Given the description of an element on the screen output the (x, y) to click on. 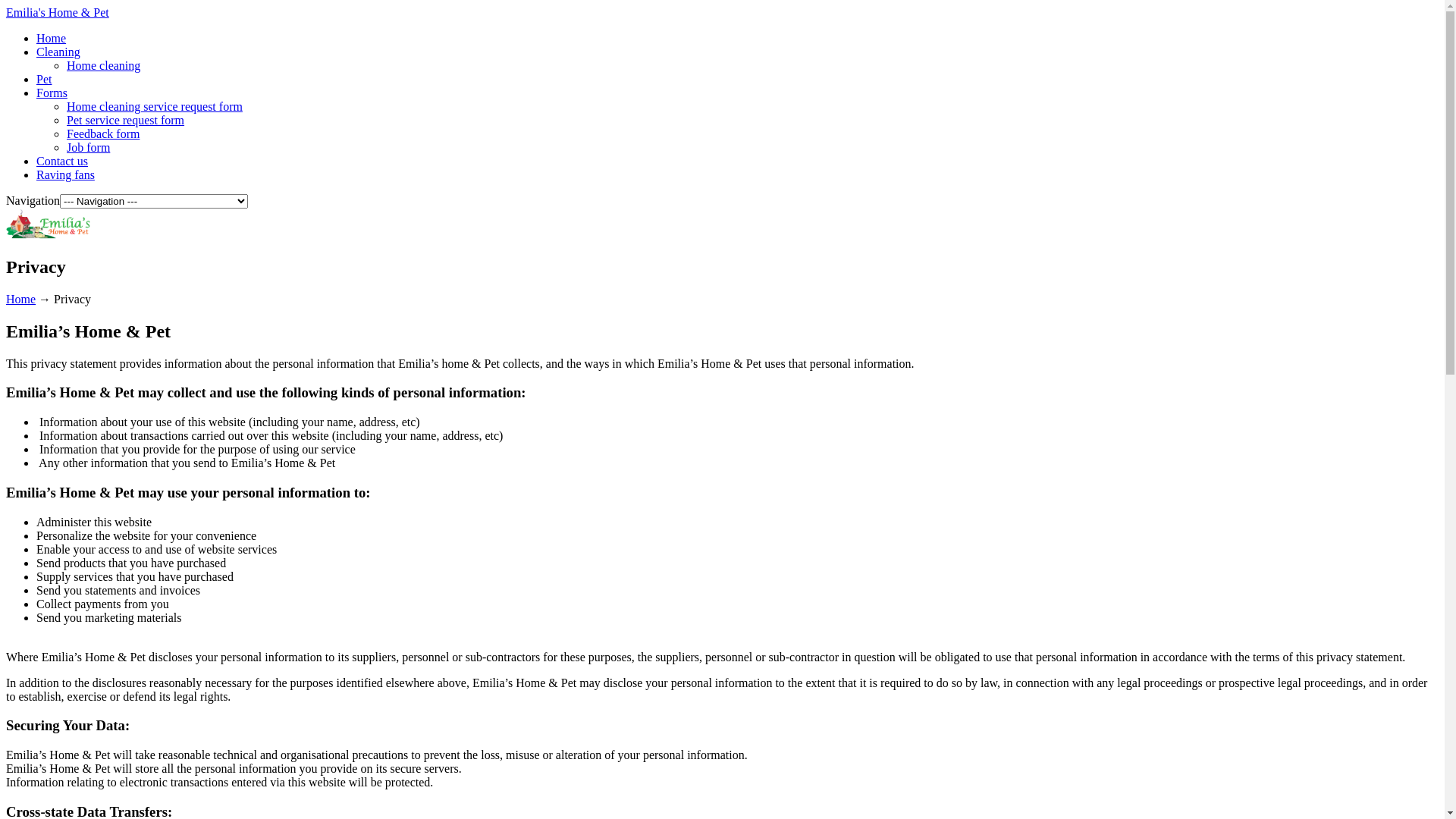
Home Element type: text (20, 298)
Contact us Element type: text (61, 160)
Feedback form Element type: text (102, 133)
Emilia's Home & Pet Element type: text (57, 12)
Home cleaning Element type: text (103, 65)
Pet Element type: text (43, 78)
Forms Element type: text (51, 92)
Job form Element type: text (87, 147)
Home cleaning service request form Element type: text (154, 106)
Pet service request form Element type: text (125, 119)
Emilia's Home & Pet Element type: hover (48, 234)
Home Element type: text (50, 37)
Cleaning Element type: text (58, 51)
Raving fans Element type: text (65, 174)
